Given the description of an element on the screen output the (x, y) to click on. 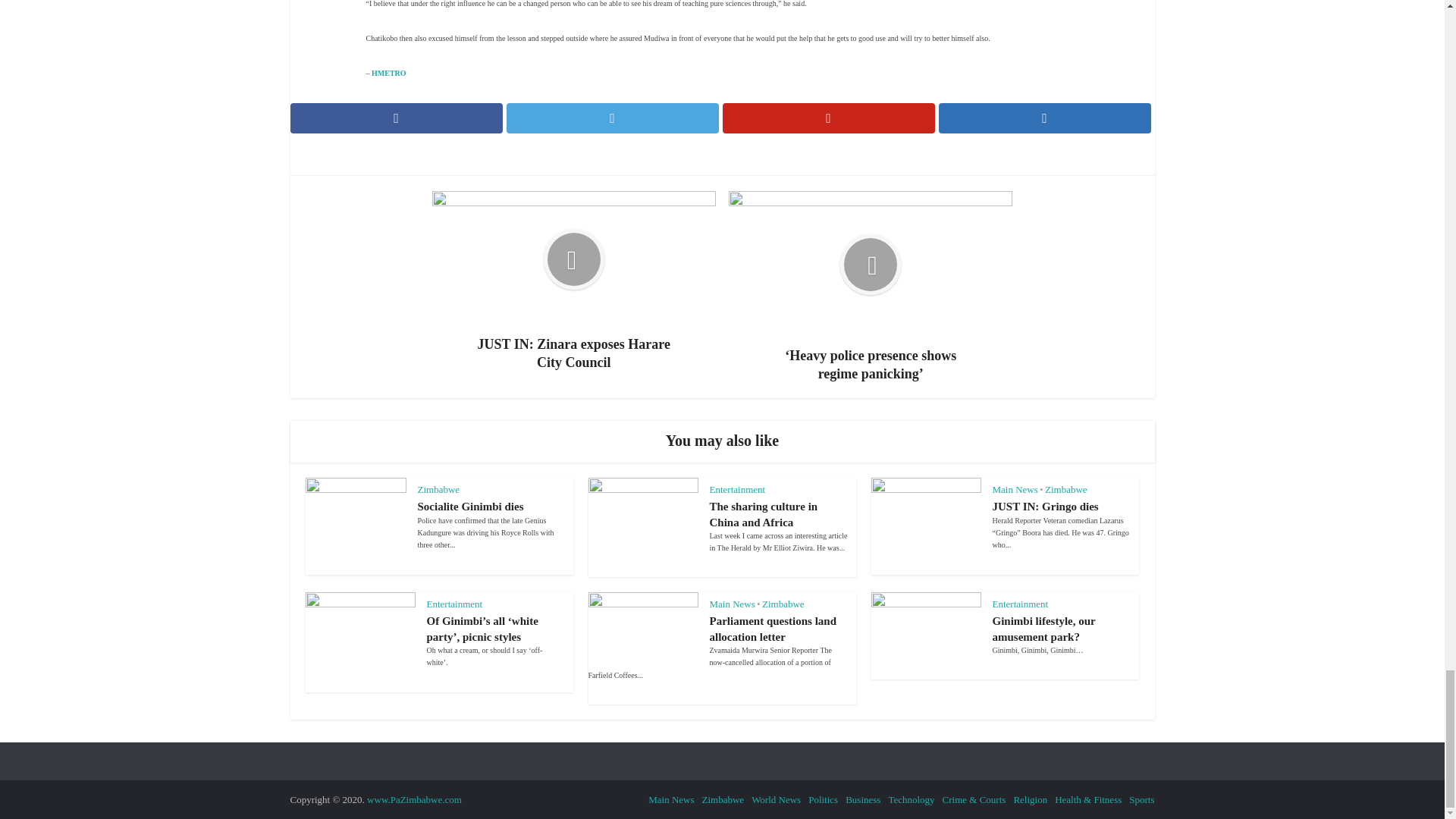
Socialite Ginimbi dies (469, 506)
The sharing culture in China and Africa (764, 513)
JUST IN: Zinara exposes Harare City Council (574, 281)
Zimbabwe (438, 489)
Parliament questions land allocation letter (773, 628)
HMETRO (388, 72)
Entertainment (737, 489)
Ginimbi lifestyle, our amusement park? (1042, 628)
JUST IN: Gringo dies (1044, 506)
Socialite Ginimbi dies (469, 506)
The sharing culture in China and Africa (764, 513)
Main News (1013, 489)
